Given the description of an element on the screen output the (x, y) to click on. 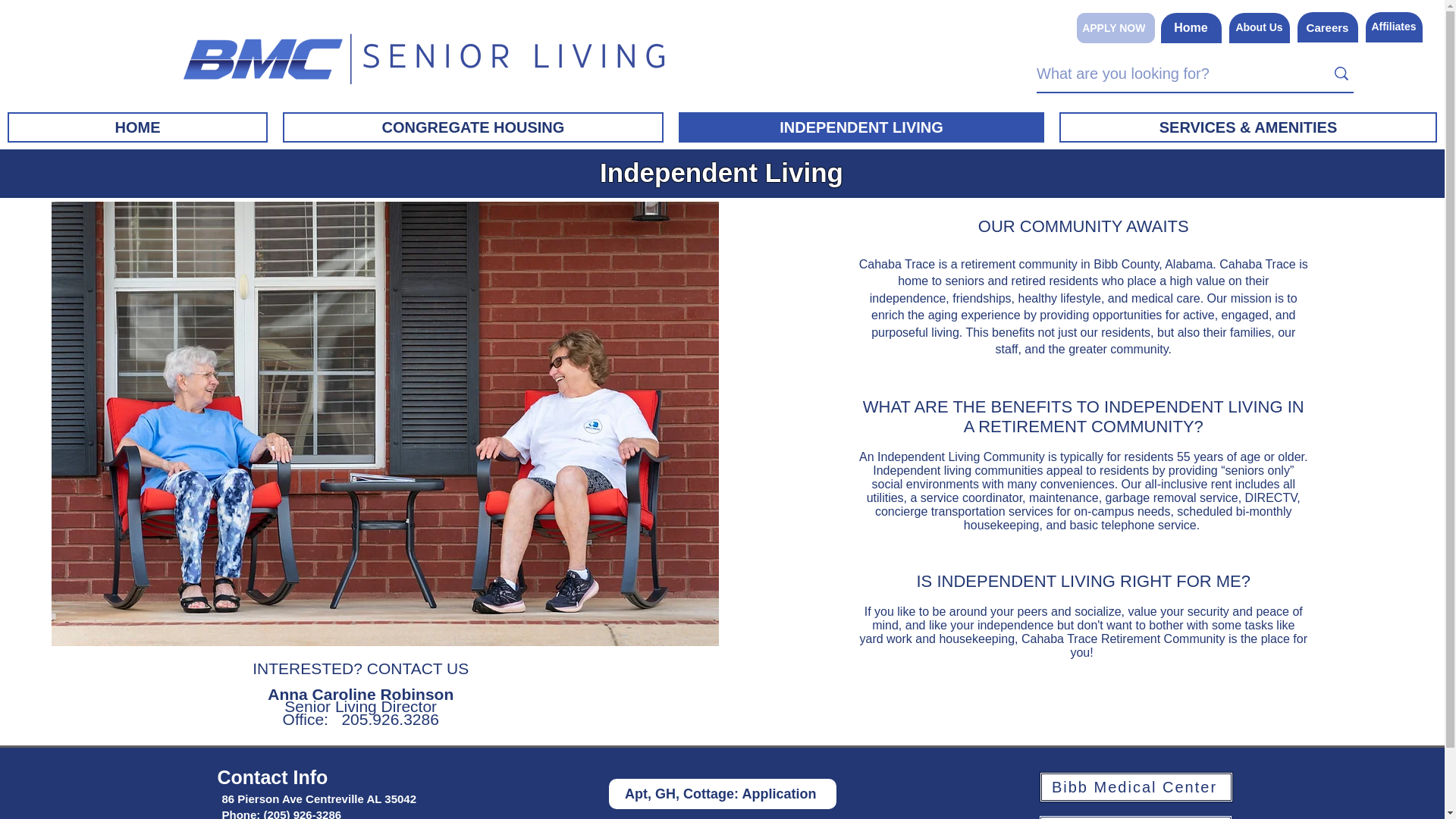
Apt, GH, Cottage: Application (721, 793)
Affiliates (1393, 27)
CONGREGATE HOUSING (472, 127)
APPLY NOW (1115, 28)
Careers (1326, 27)
Bibb Medical Center (1135, 787)
bmc horizontal lgo.png (425, 55)
INDEPENDENT LIVING (860, 127)
About Us (1258, 28)
